Given the description of an element on the screen output the (x, y) to click on. 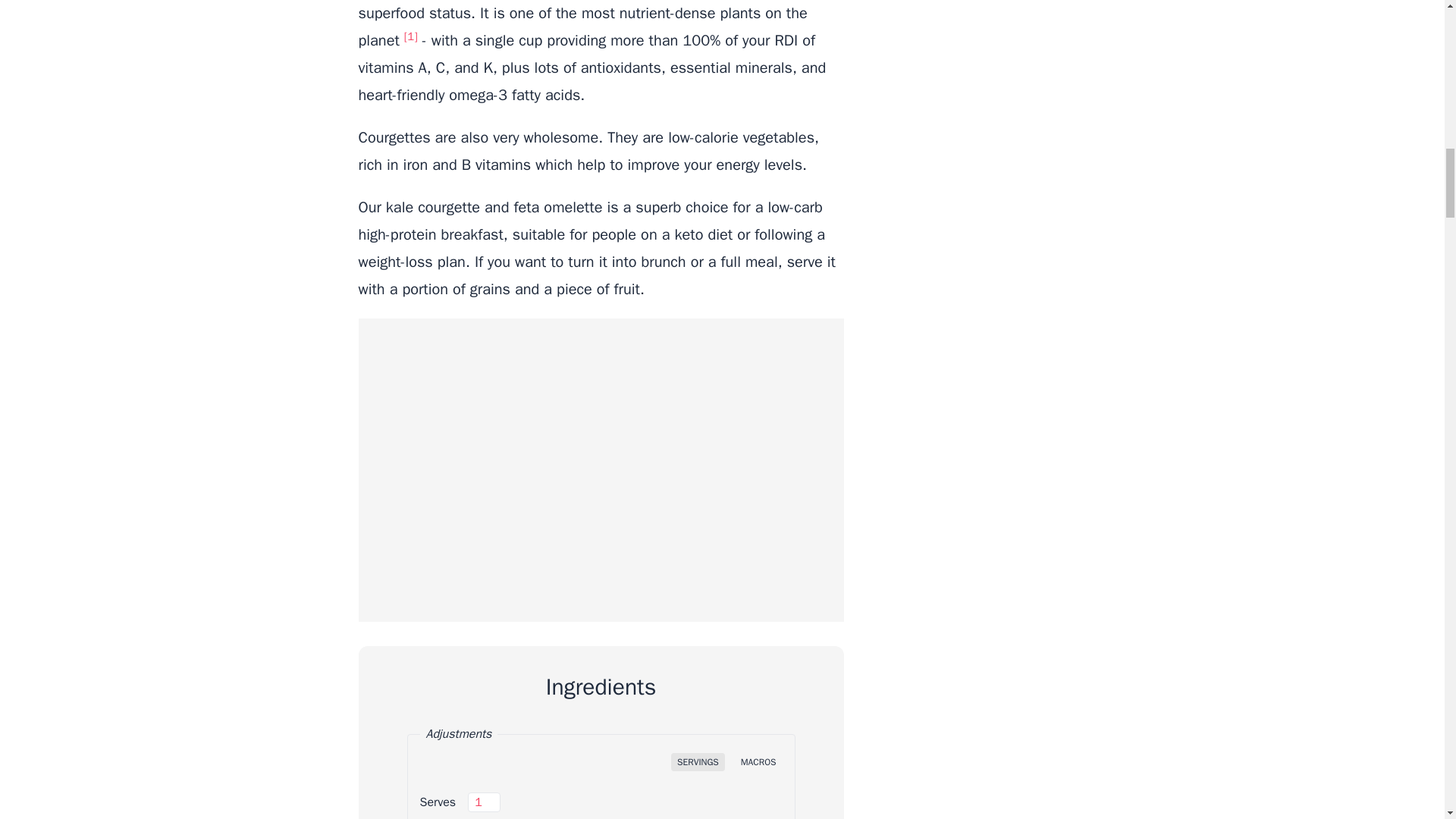
1 (483, 802)
